Given the description of an element on the screen output the (x, y) to click on. 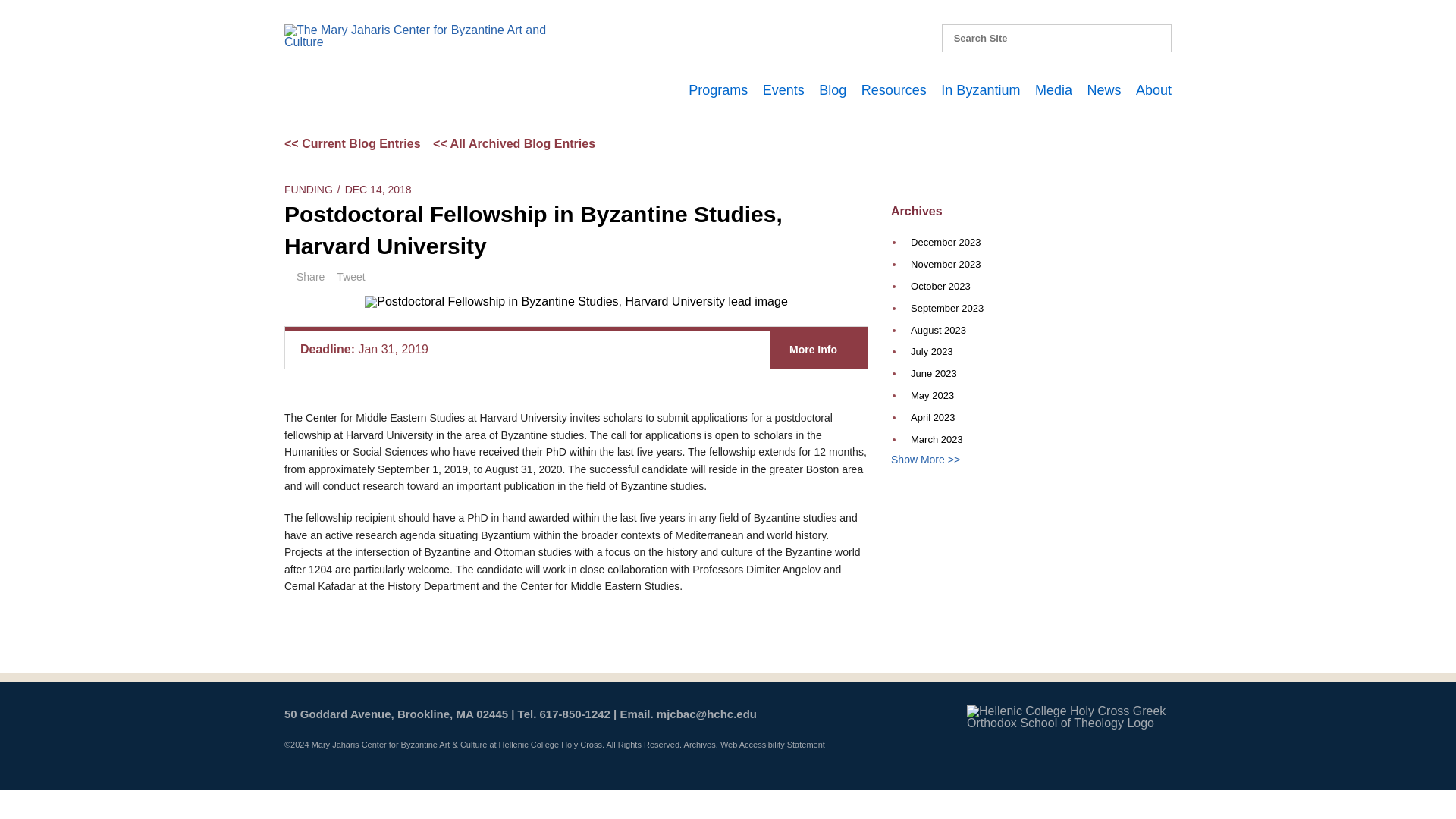
Blog (831, 90)
Twitter (794, 35)
Facebook (765, 35)
Programs (718, 90)
Resources (893, 90)
YouTube (825, 35)
